Given the description of an element on the screen output the (x, y) to click on. 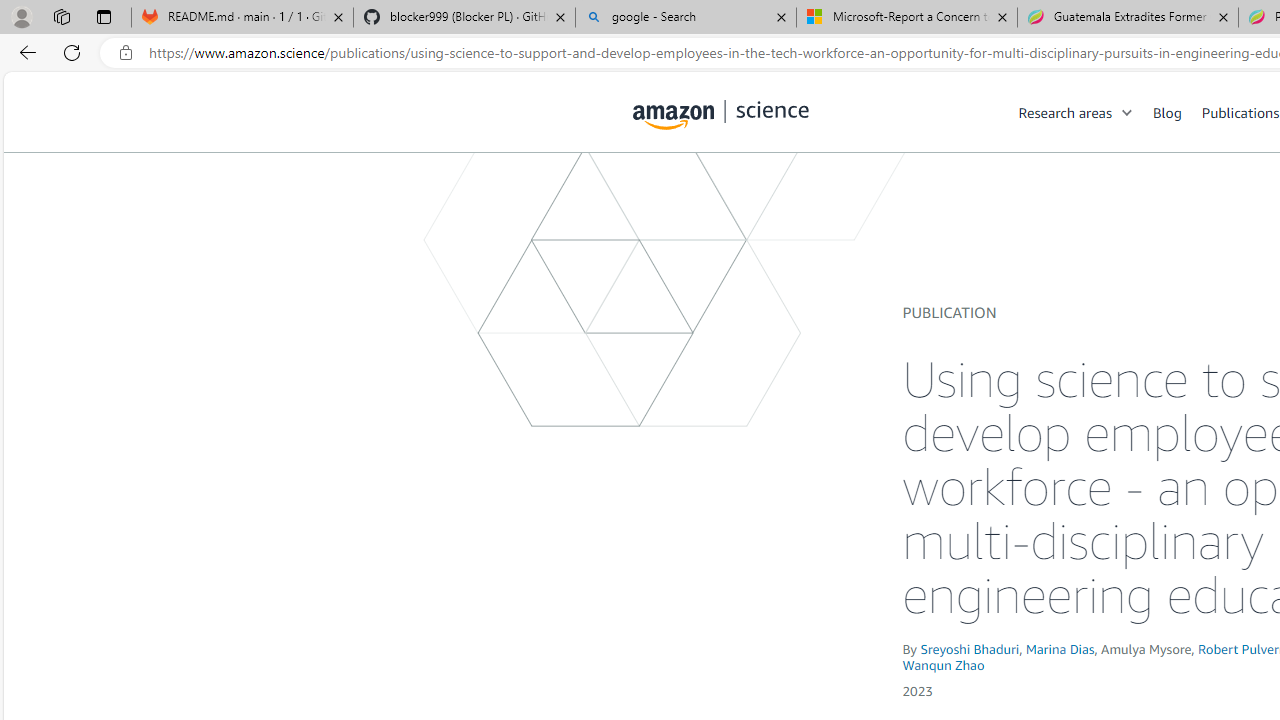
Blog (1177, 111)
Publications (1240, 111)
google - Search (686, 17)
Microsoft-Report a Concern to Bing (907, 17)
PUBLICATION (949, 312)
Research areas (1085, 111)
Blog (1167, 111)
Open Sub Navigation (1128, 111)
